Given the description of an element on the screen output the (x, y) to click on. 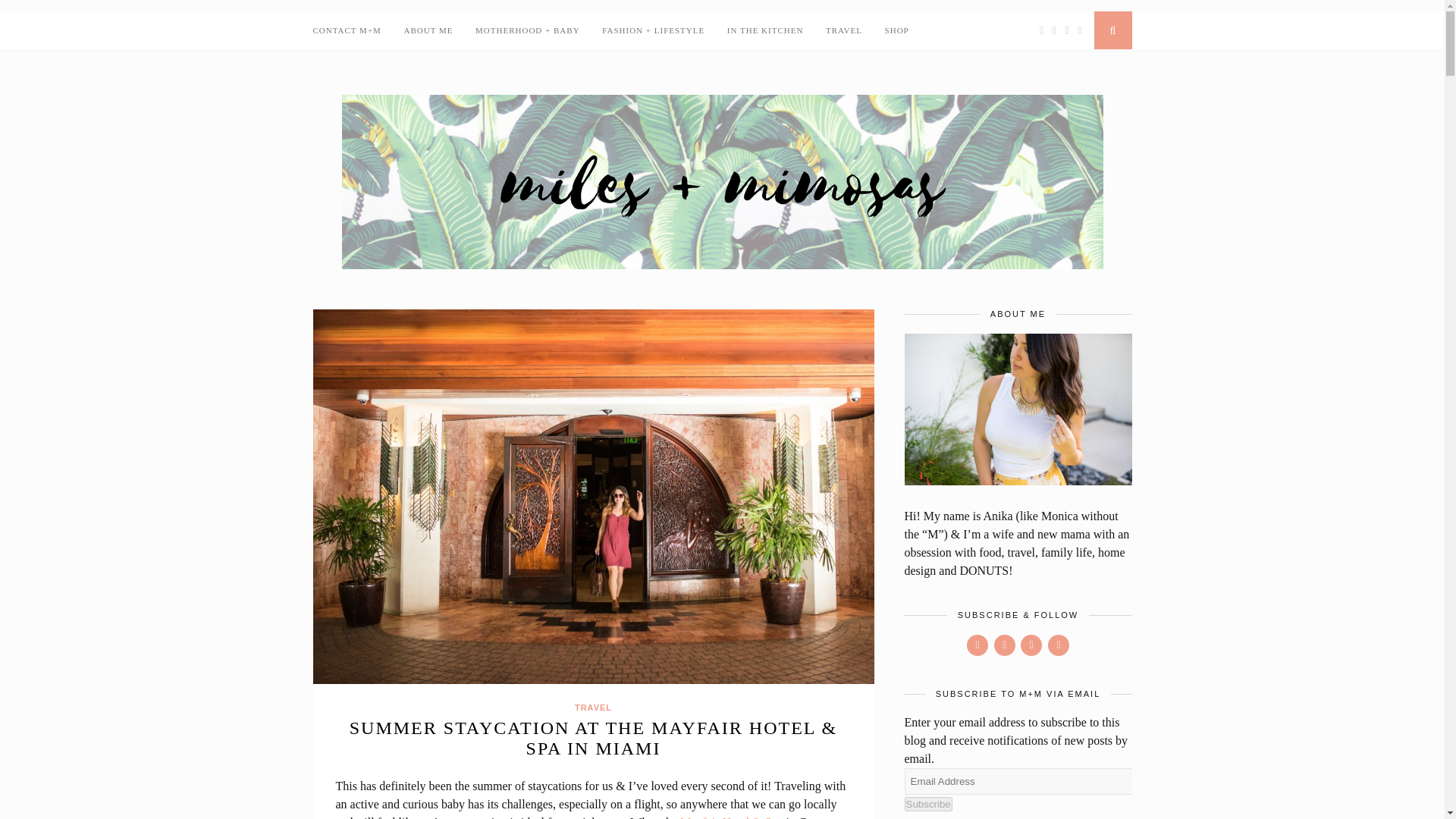
ABOUT ME (428, 30)
TRAVEL (843, 30)
IN THE KITCHEN (764, 30)
TRAVEL (593, 706)
